Given the description of an element on the screen output the (x, y) to click on. 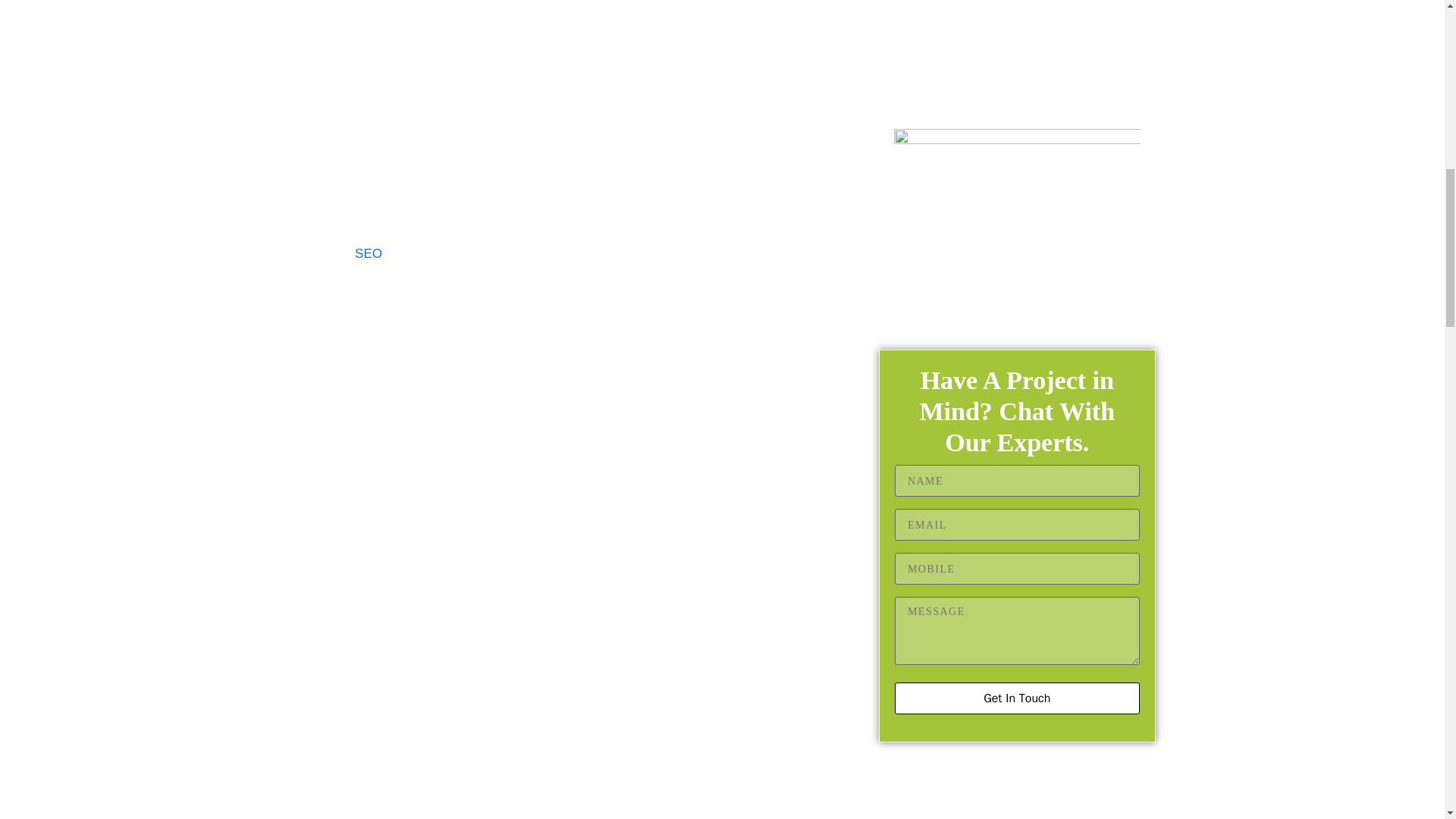
Get In Touch (1017, 698)
